Given the description of an element on the screen output the (x, y) to click on. 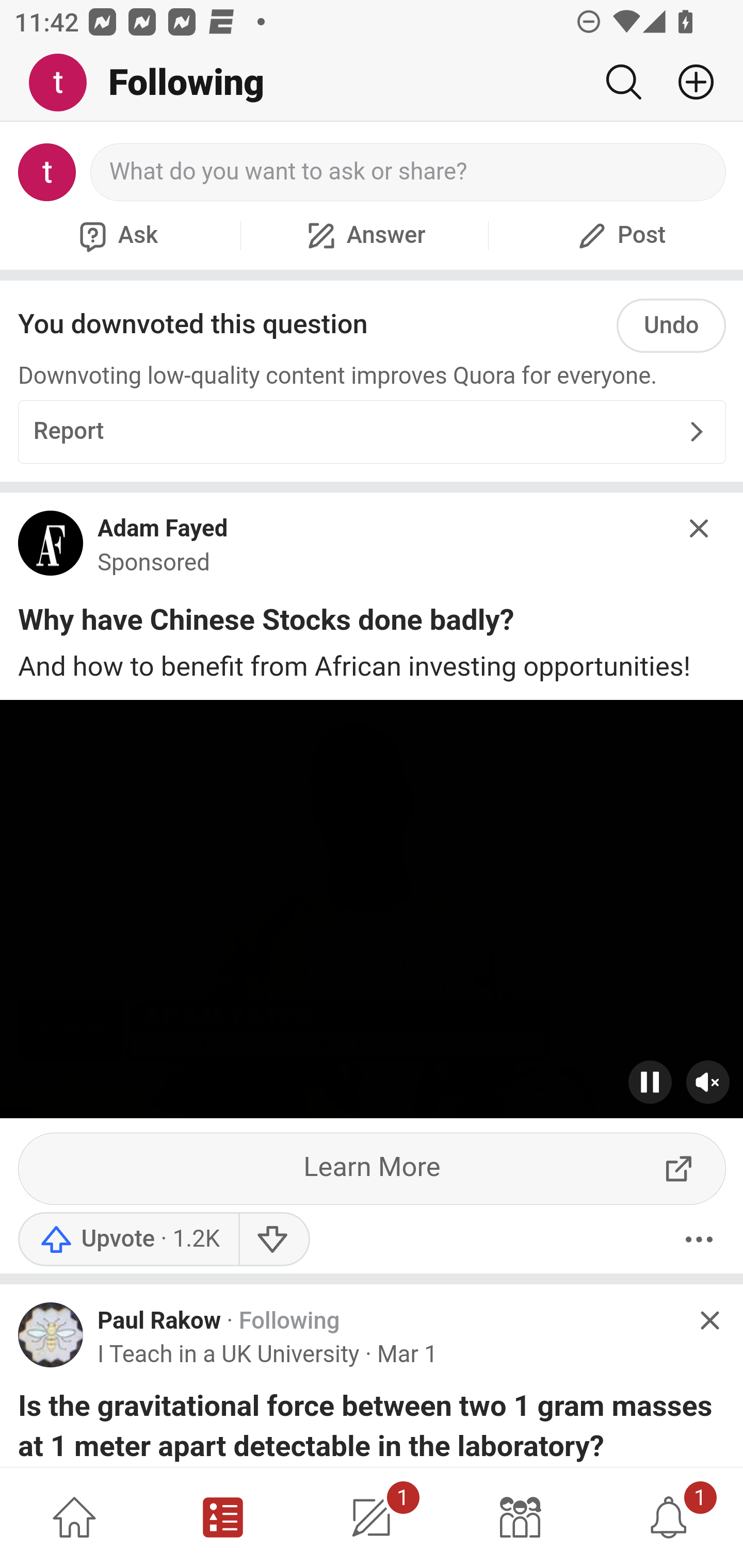
Me (64, 83)
Search (623, 82)
Add (688, 82)
What do you want to ask or share? (408, 172)
Ask (116, 234)
Answer (364, 234)
Post (618, 234)
Undo (671, 324)
Report (371, 431)
Hide (699, 528)
main-qimg-9229f9829955c59ec9f04a2e40d98b2b (50, 548)
Adam Fayed (162, 529)
Why have Chinese Stocks done badly? (265, 623)
Pause (650, 1082)
VolumeMuted (708, 1082)
Learn More ExternalLink (372, 1168)
Upvote (127, 1240)
Downvote (273, 1240)
More (699, 1240)
Hide (709, 1320)
Profile photo for Paul Rakow (50, 1335)
Paul Rakow (159, 1321)
1 (371, 1517)
1 (668, 1517)
